Given the description of an element on the screen output the (x, y) to click on. 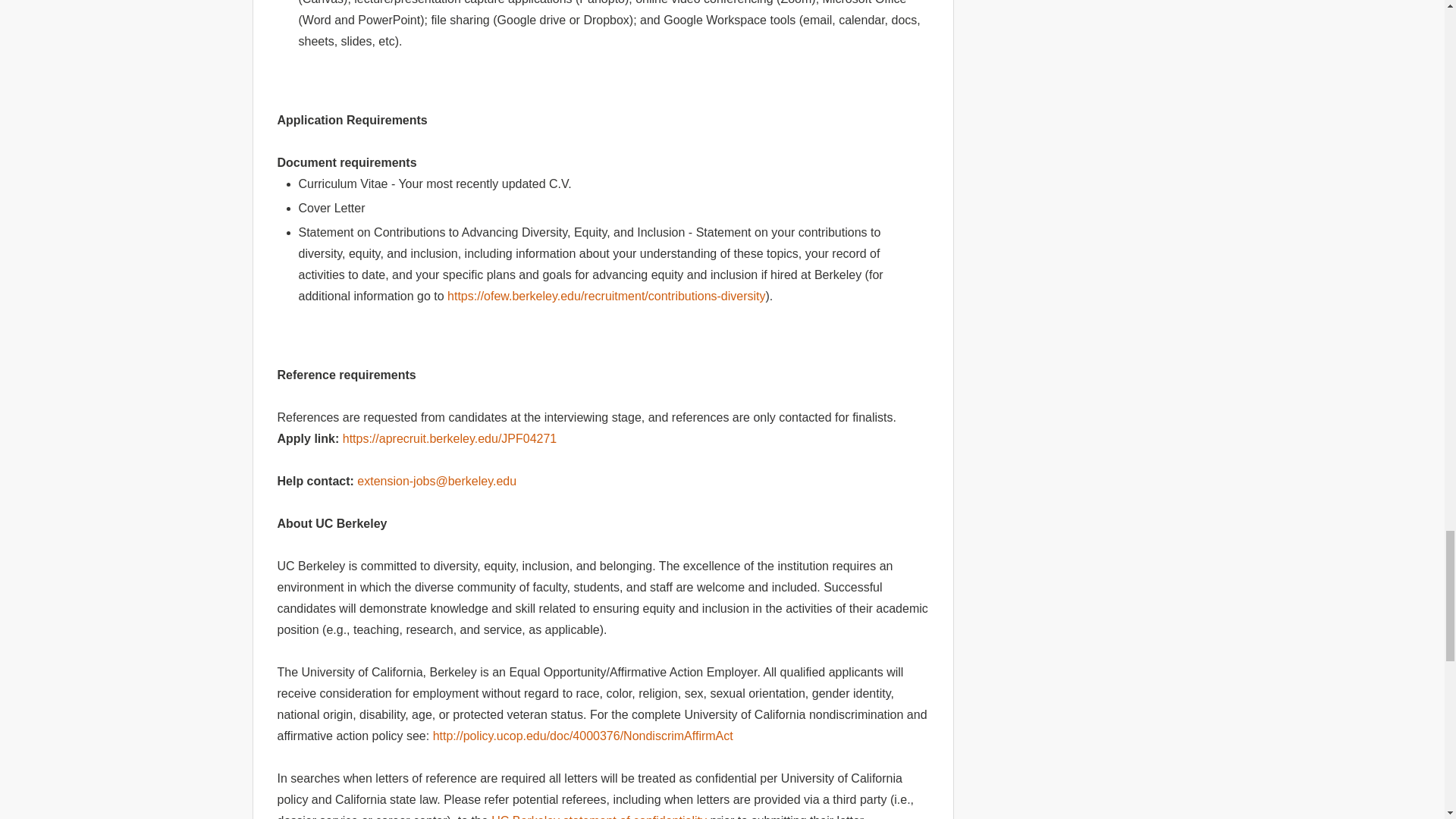
UC Berkeley statement of confidentiality (599, 816)
